Given the description of an element on the screen output the (x, y) to click on. 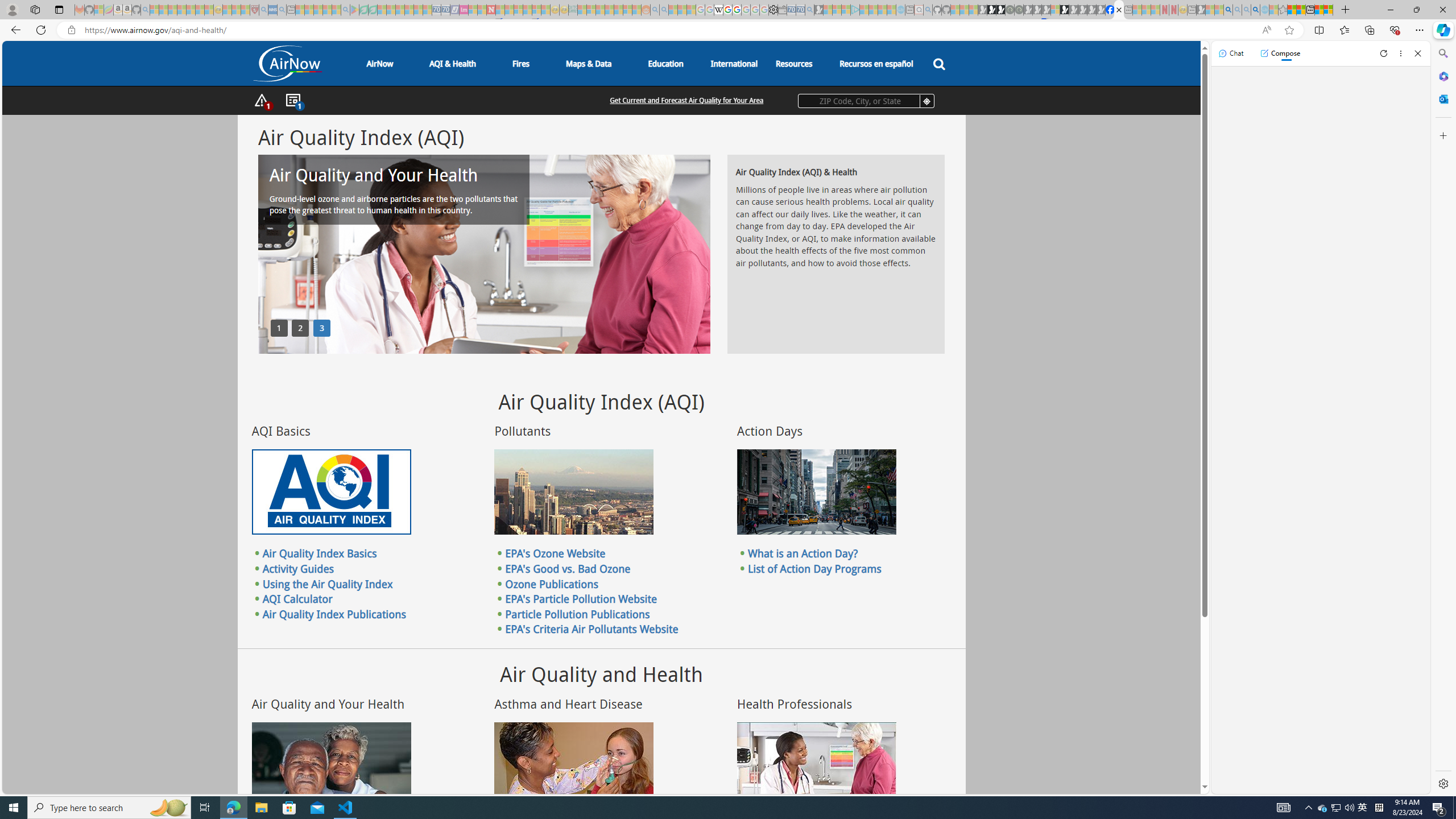
Latest Politics News & Archive | Newsweek.com - Sleeping (490, 9)
Pollutants (573, 491)
Wallet - Sleeping (782, 9)
Air Quality Index Basics (319, 553)
Pets - MSN - Sleeping (326, 9)
Air Quality and Your Health (330, 764)
